Given the description of an element on the screen output the (x, y) to click on. 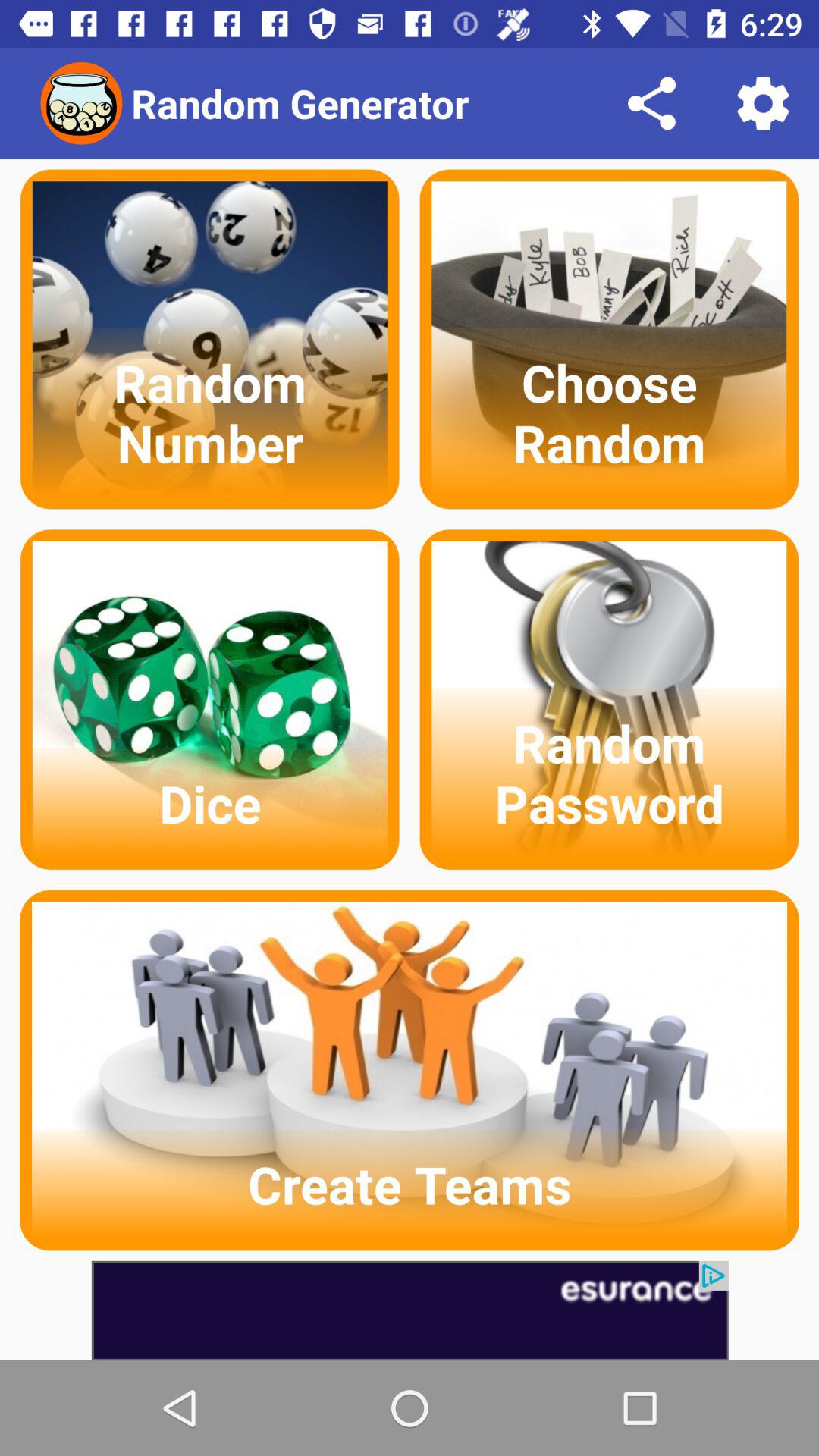
open advertisement (409, 1310)
